Given the description of an element on the screen output the (x, y) to click on. 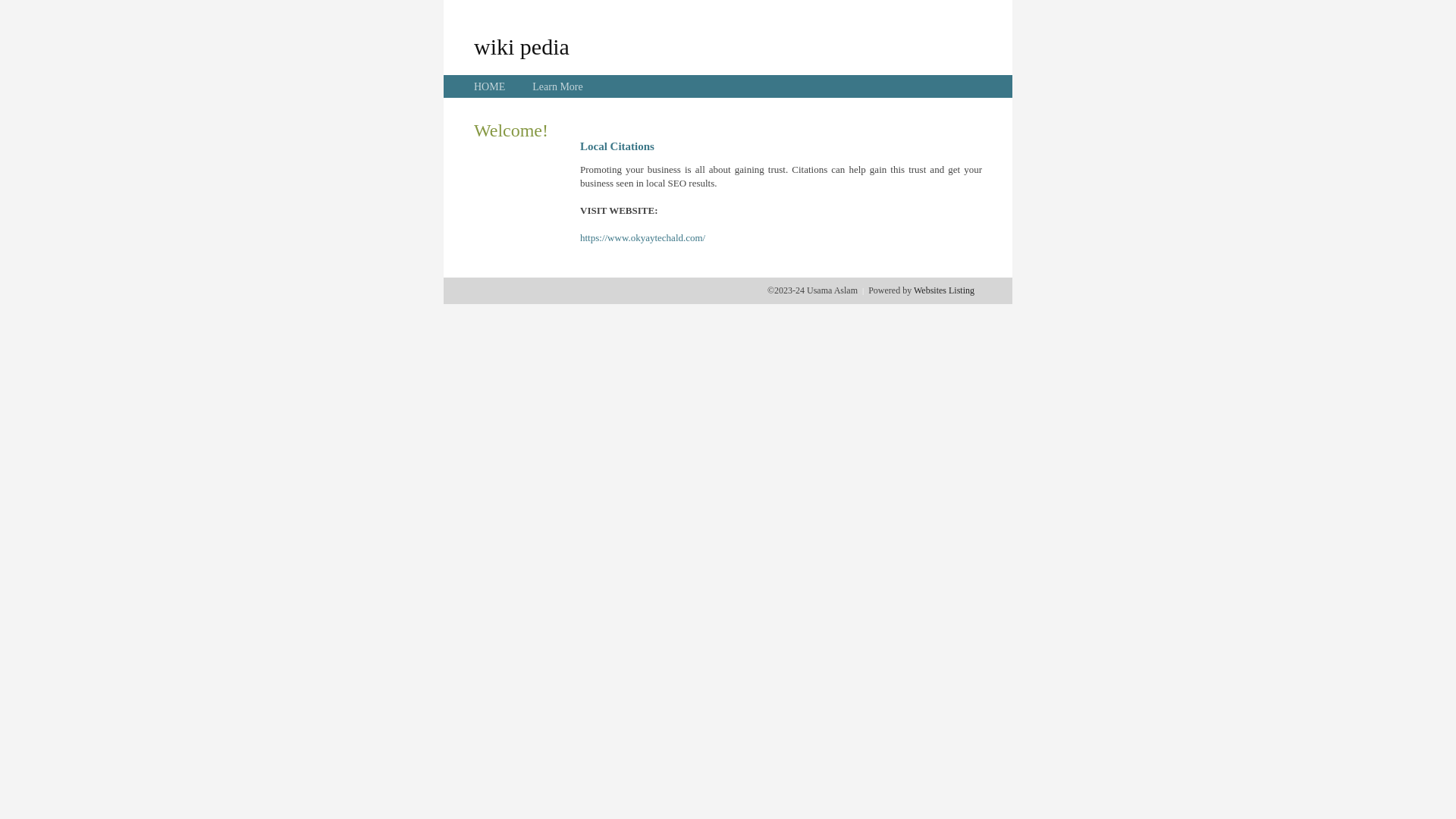
HOME Element type: text (489, 86)
https://www.okyaytechald.com/ Element type: text (642, 237)
Learn More Element type: text (557, 86)
Websites Listing Element type: text (943, 290)
wiki pedia Element type: text (521, 46)
